Given the description of an element on the screen output the (x, y) to click on. 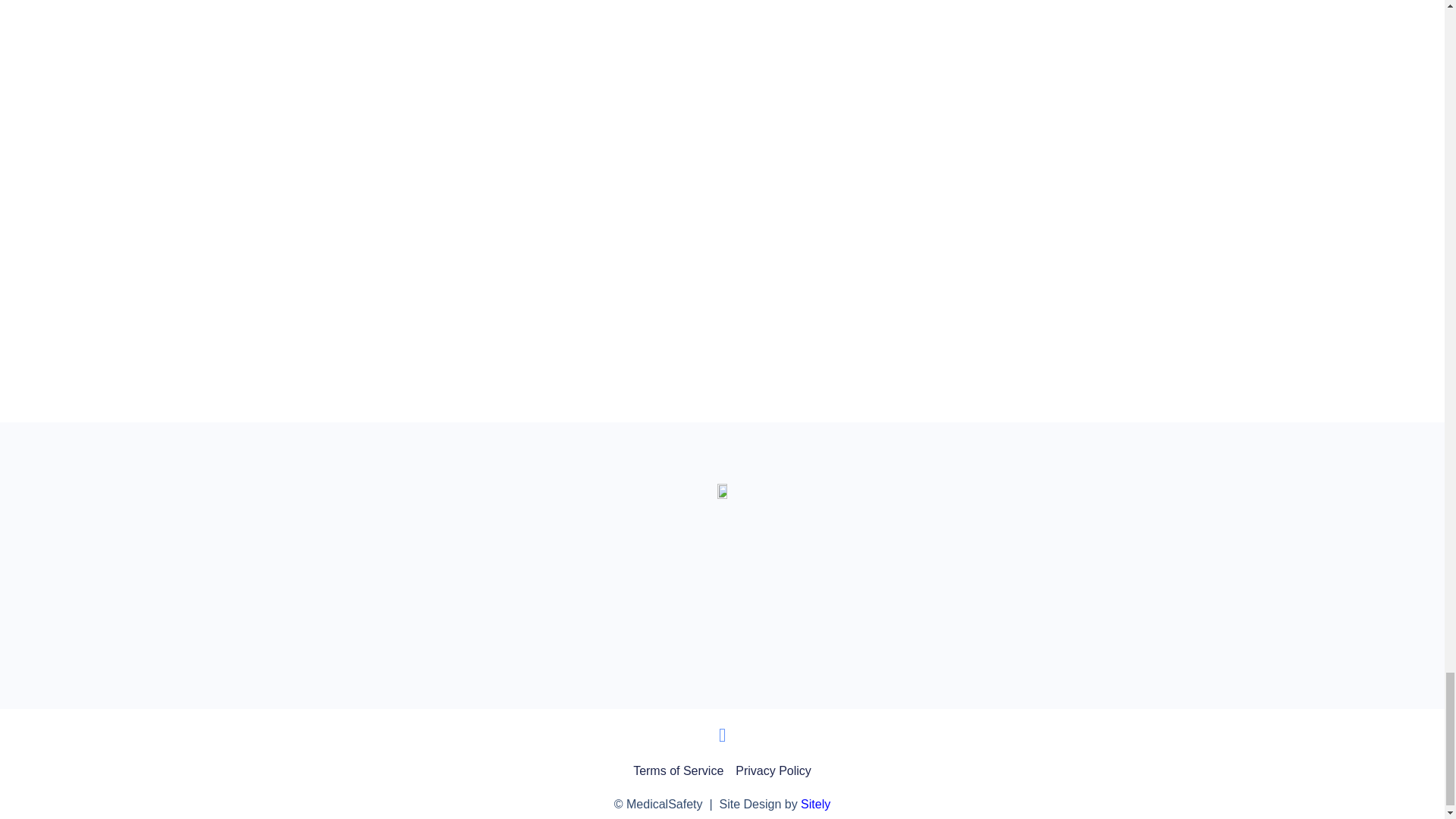
Privacy Policy (772, 771)
Sitely (814, 803)
Terms of Service (678, 771)
